Given the description of an element on the screen output the (x, y) to click on. 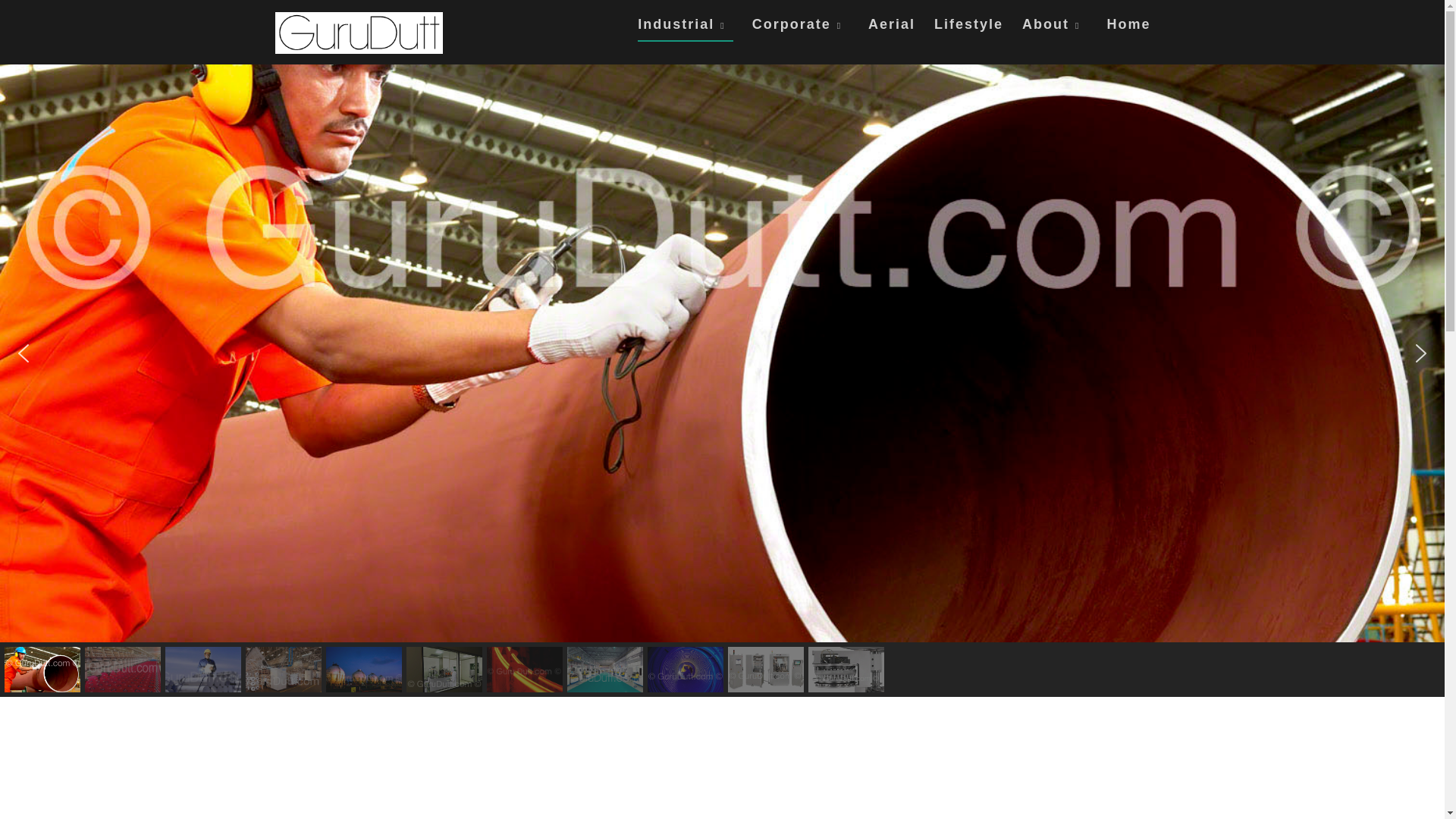
Corporate (800, 27)
About (1054, 27)
Aerial (891, 27)
Industrial (684, 28)
Lifestyle (968, 27)
